Given the description of an element on the screen output the (x, y) to click on. 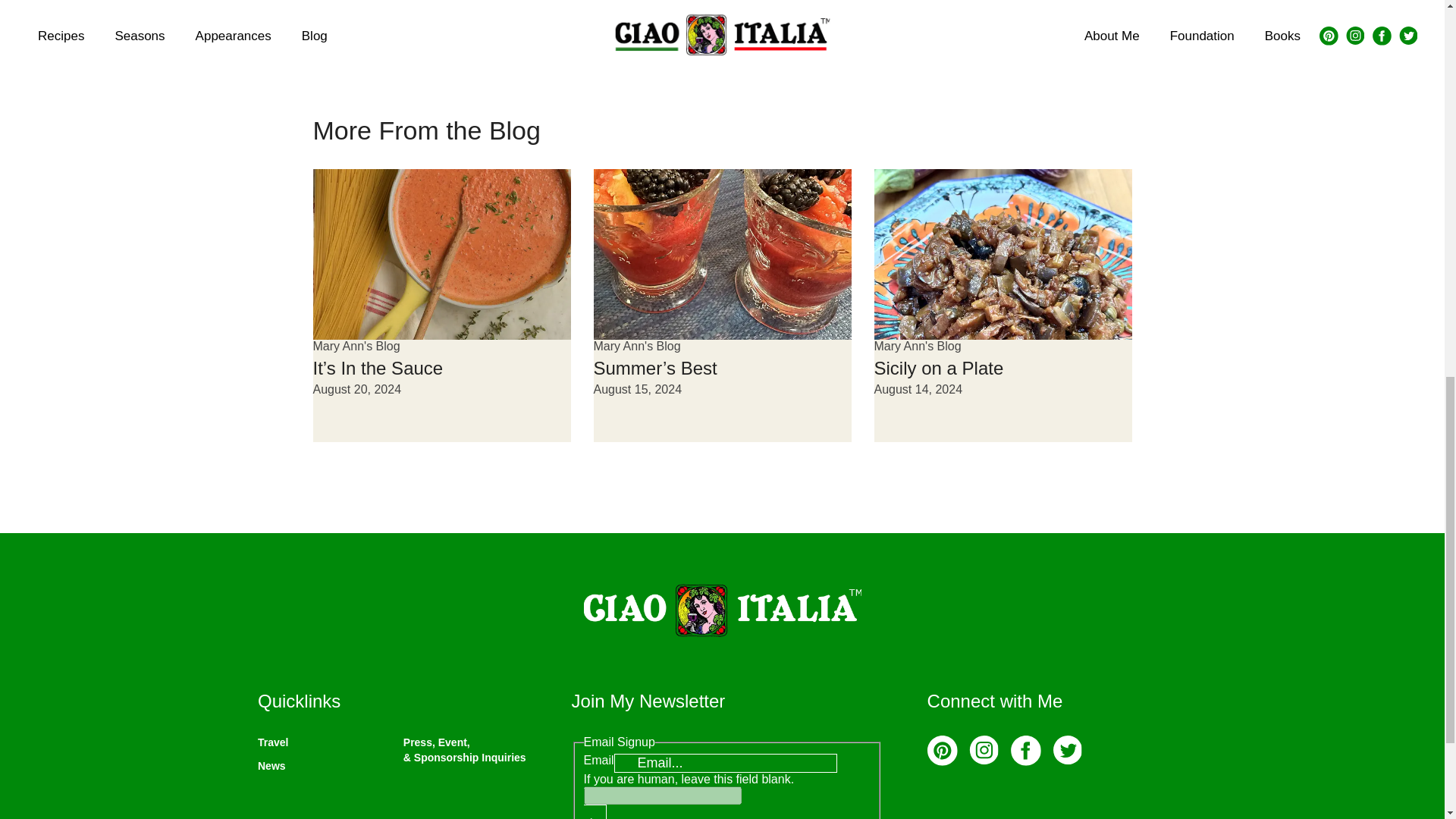
Travel (272, 742)
Sicily on a Plate (938, 367)
News (271, 766)
